Given the description of an element on the screen output the (x, y) to click on. 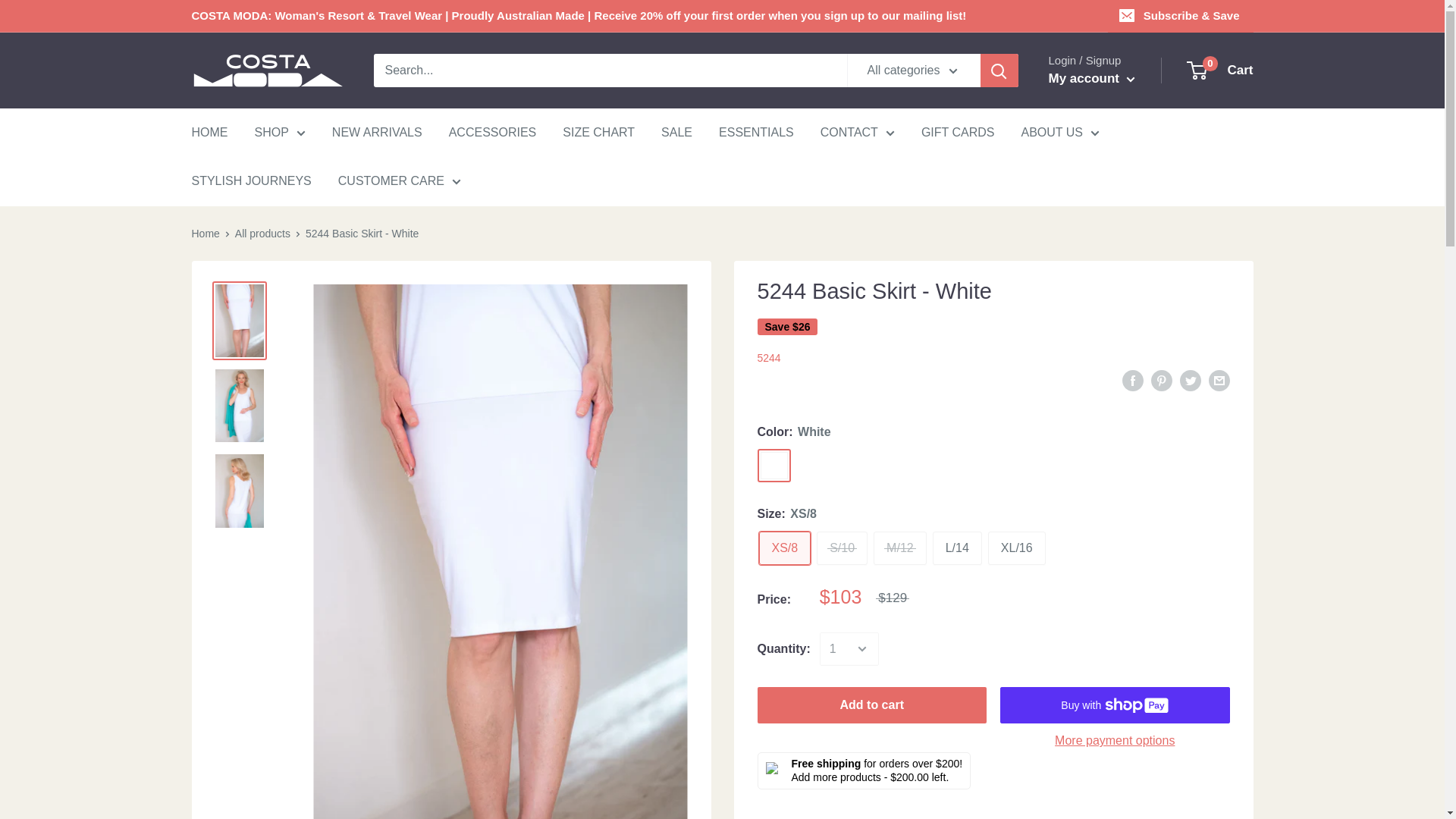
White (773, 465)
